Given the description of an element on the screen output the (x, y) to click on. 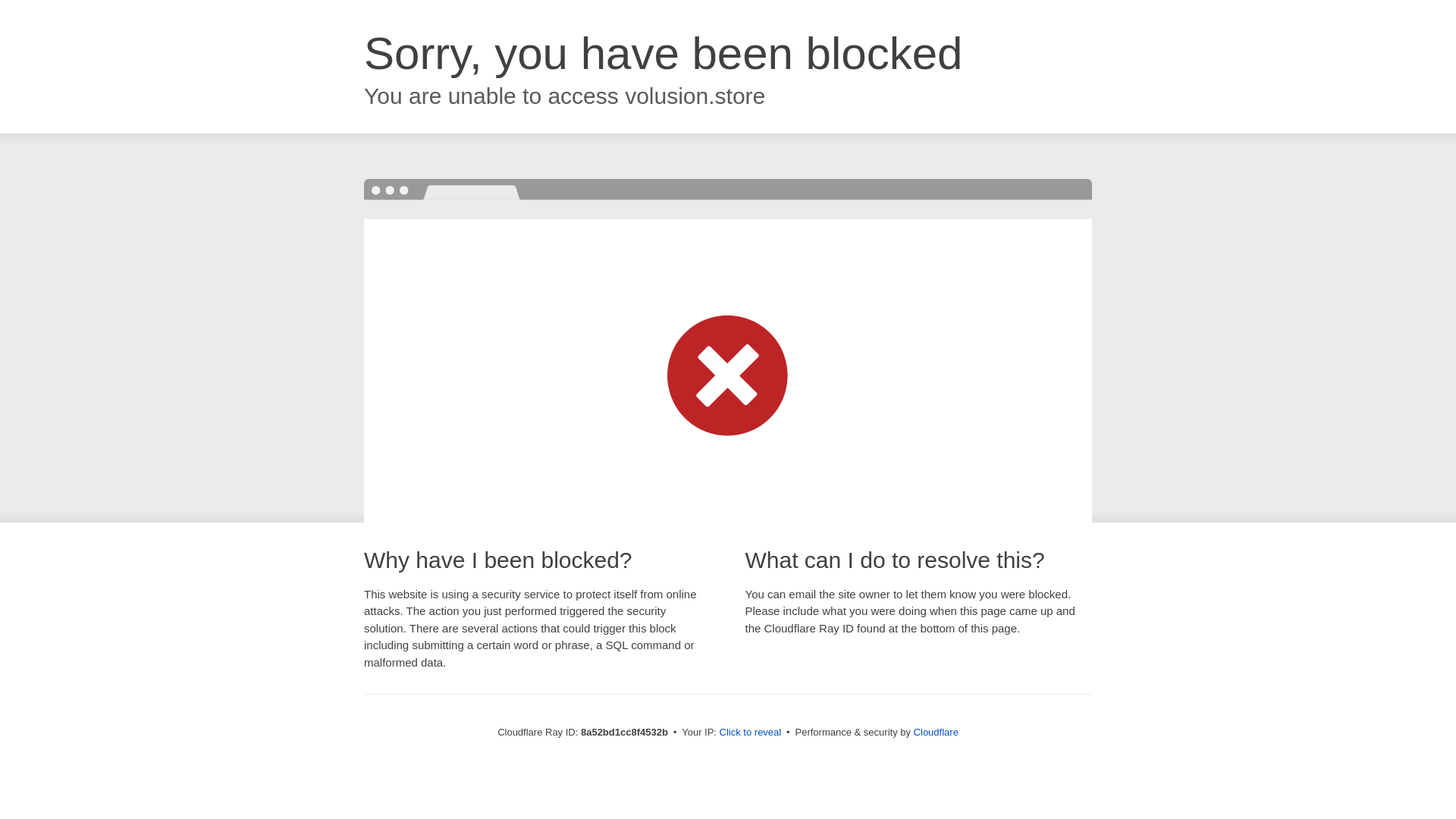
Cloudflare (936, 731)
Click to reveal (750, 732)
